Given the description of an element on the screen output the (x, y) to click on. 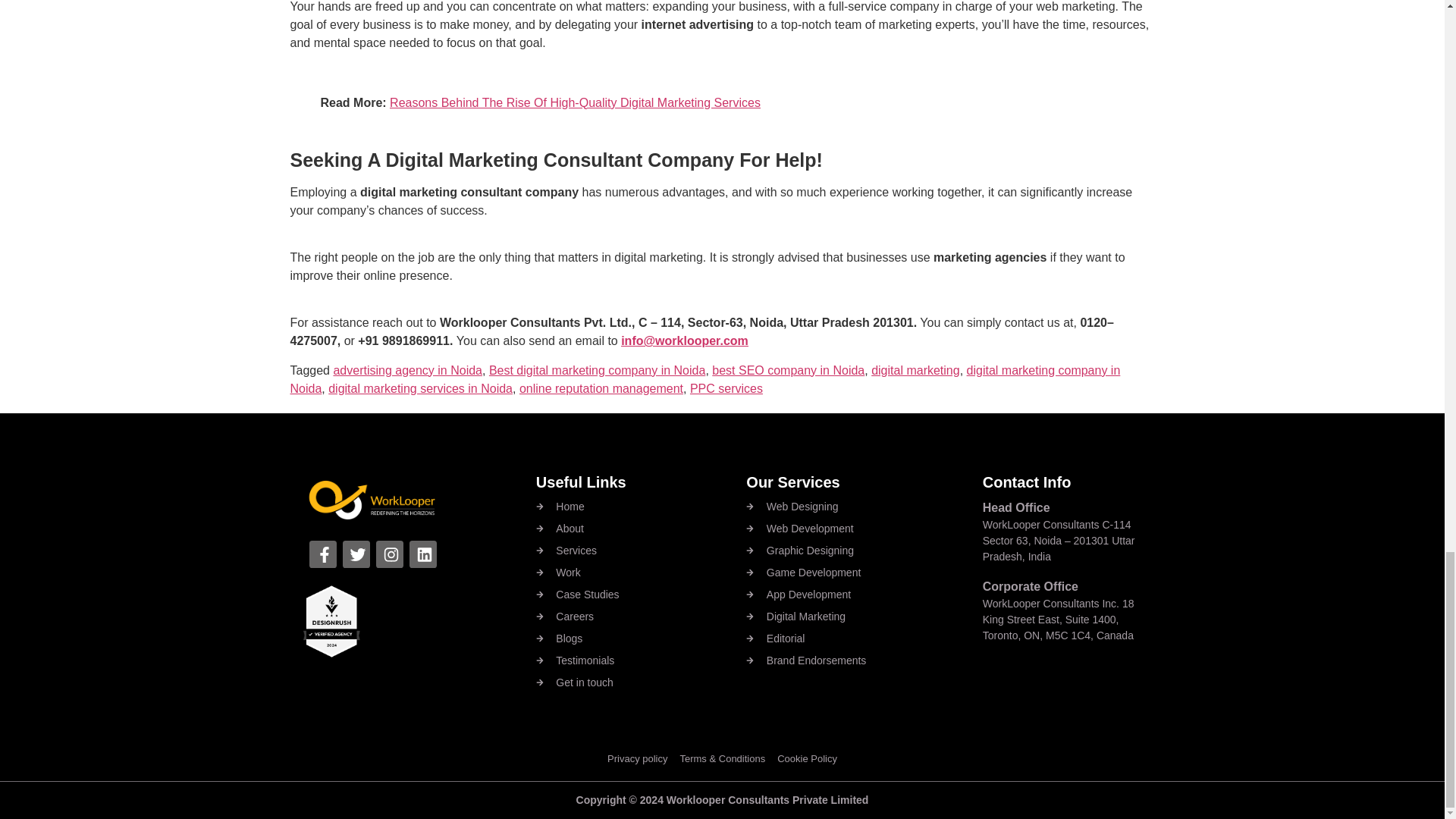
digital marketing (914, 369)
Blogs (640, 638)
Best digital marketing company in Noida (596, 369)
About (640, 528)
best SEO company in Noida (787, 369)
digital marketing company in Noida (704, 378)
Testimonials (640, 660)
PPC services (726, 388)
Careers (640, 616)
